Given the description of an element on the screen output the (x, y) to click on. 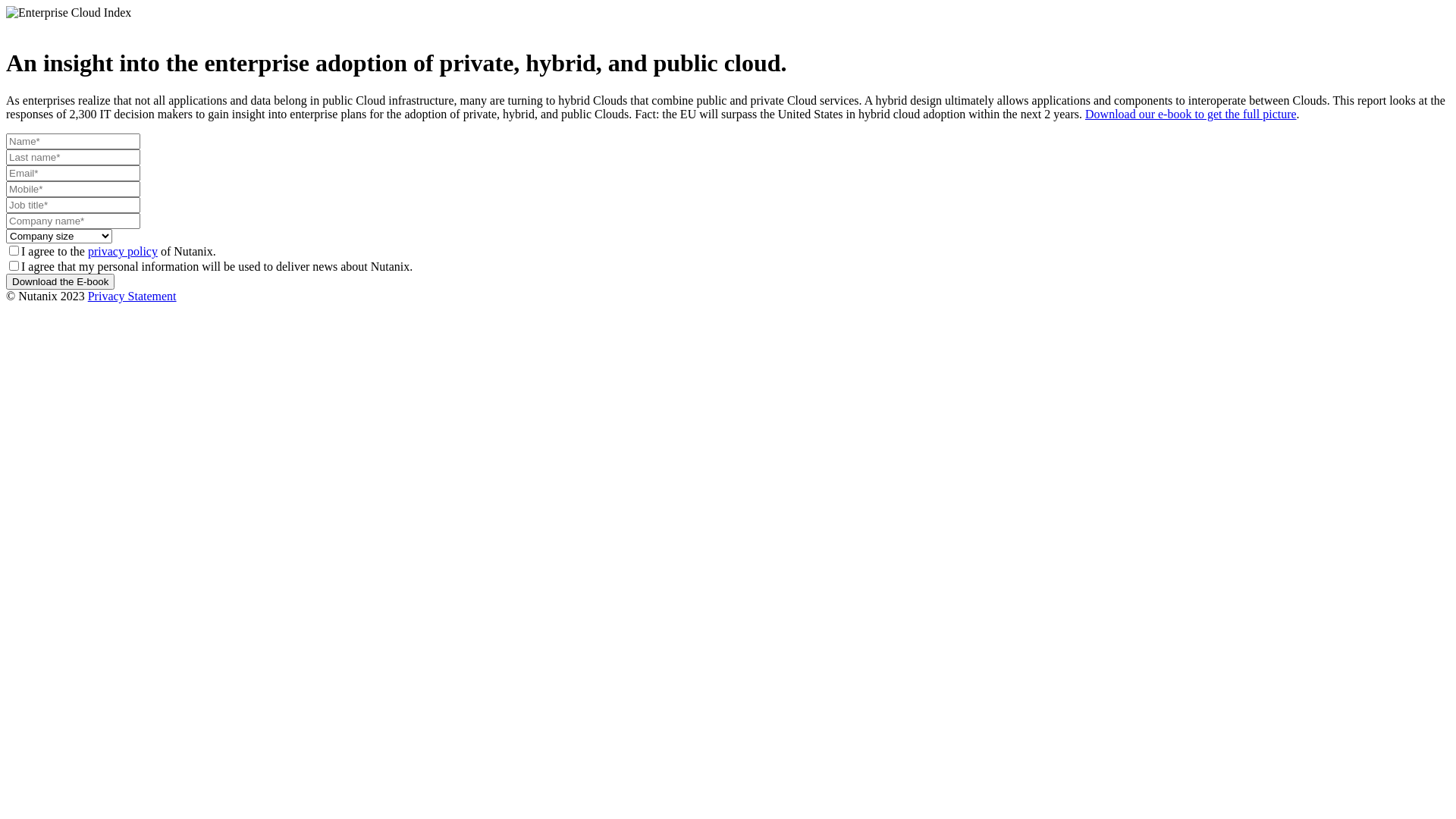
Download the E-book Element type: text (60, 281)
Privacy Statement Element type: text (131, 295)
Download our e-book to get the full picture Element type: text (1190, 113)
privacy policy Element type: text (122, 250)
